Given the description of an element on the screen output the (x, y) to click on. 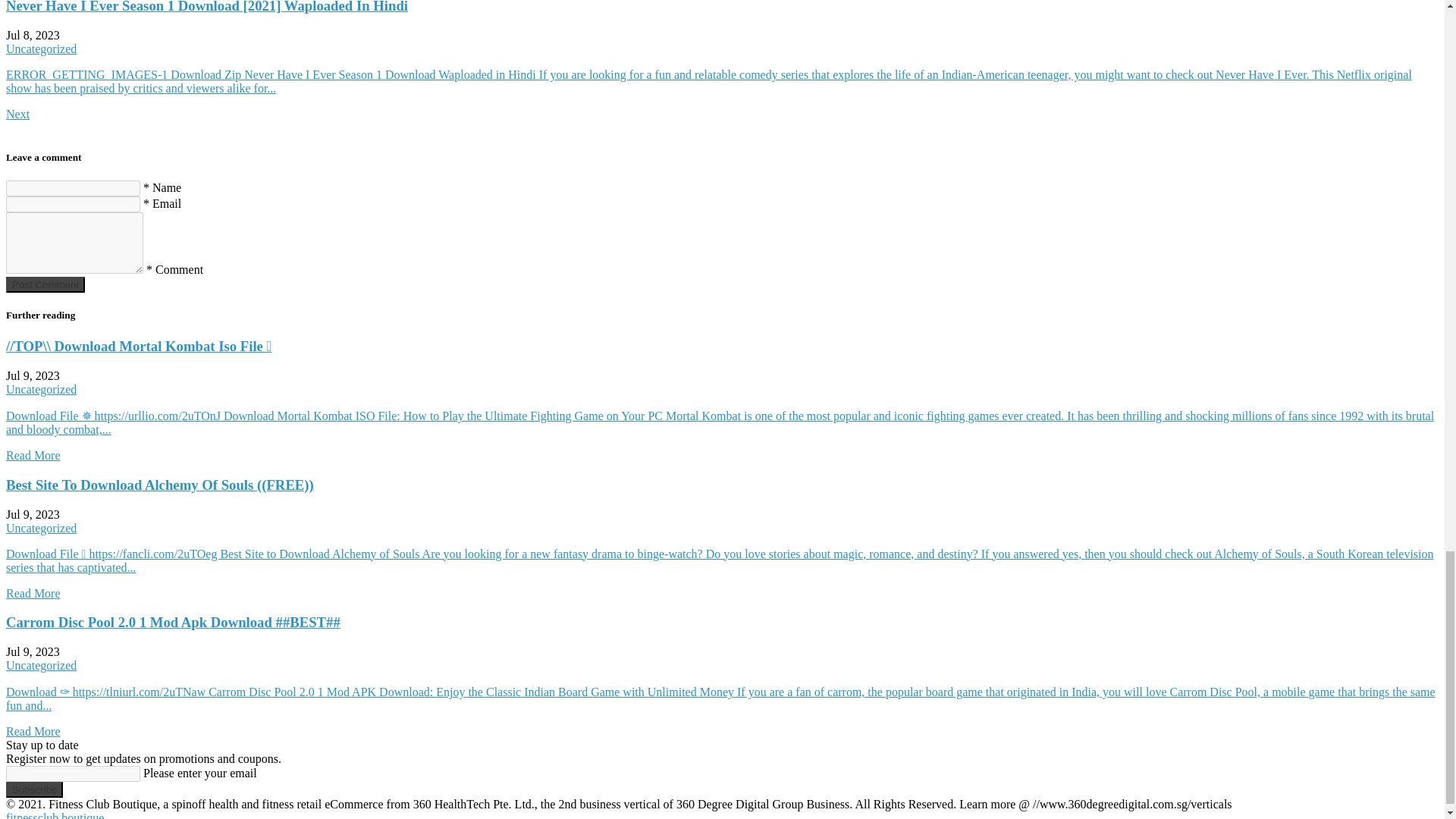
Next (17, 113)
Read More (33, 730)
Uncategorized (41, 665)
Uncategorized (41, 48)
Uncategorized (41, 389)
Uncategorized (41, 527)
Subscribe (33, 789)
Read More (33, 454)
Read More (33, 593)
